Given the description of an element on the screen output the (x, y) to click on. 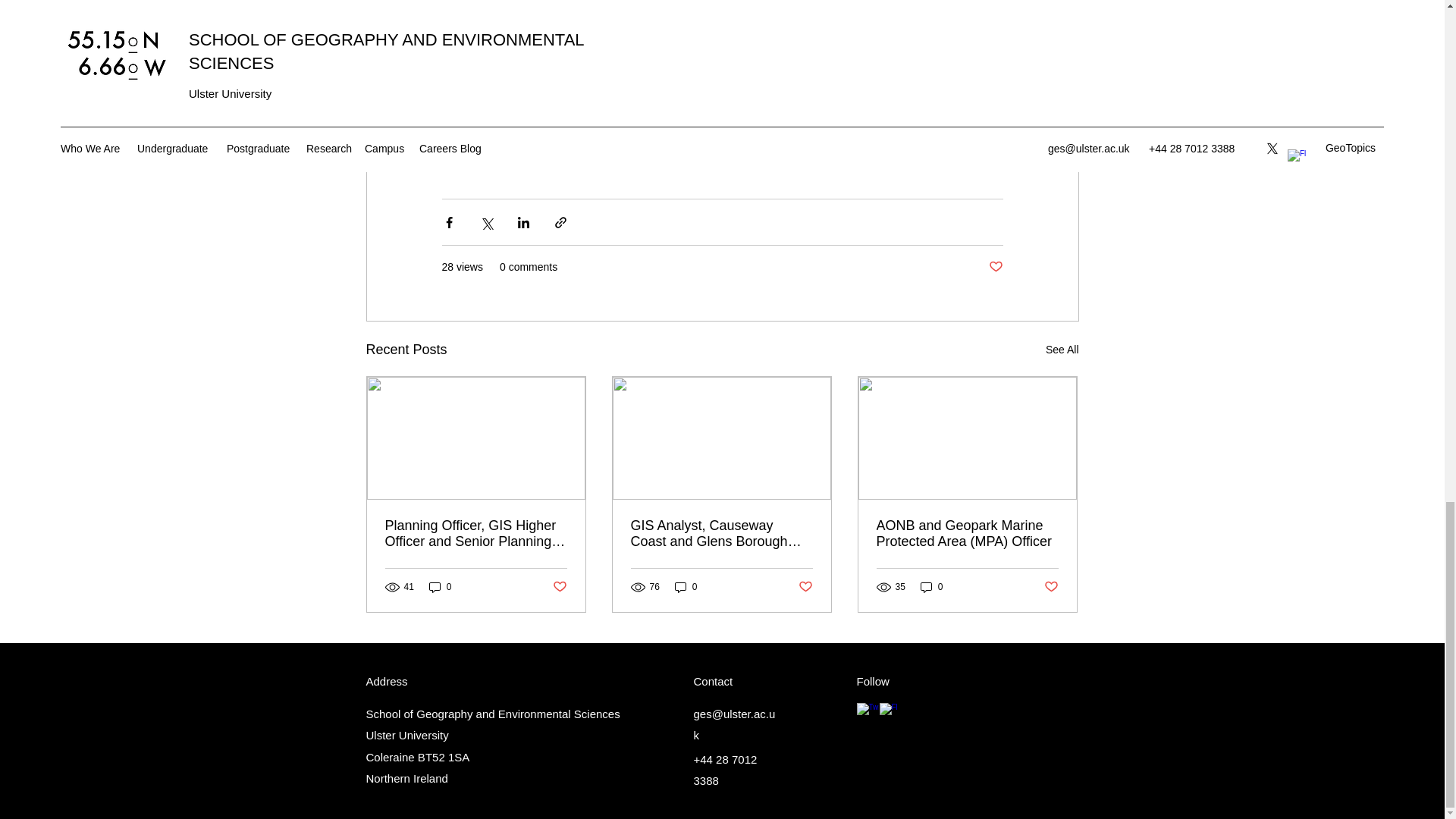
Post not marked as liked (804, 587)
0 (685, 586)
0 (440, 586)
GIS Analyst, Causeway Coast and Glens Borough Council (721, 533)
Post not marked as liked (558, 587)
0 (931, 586)
Post not marked as liked (1050, 587)
See All (1061, 350)
Post not marked as liked (995, 267)
